Given the description of an element on the screen output the (x, y) to click on. 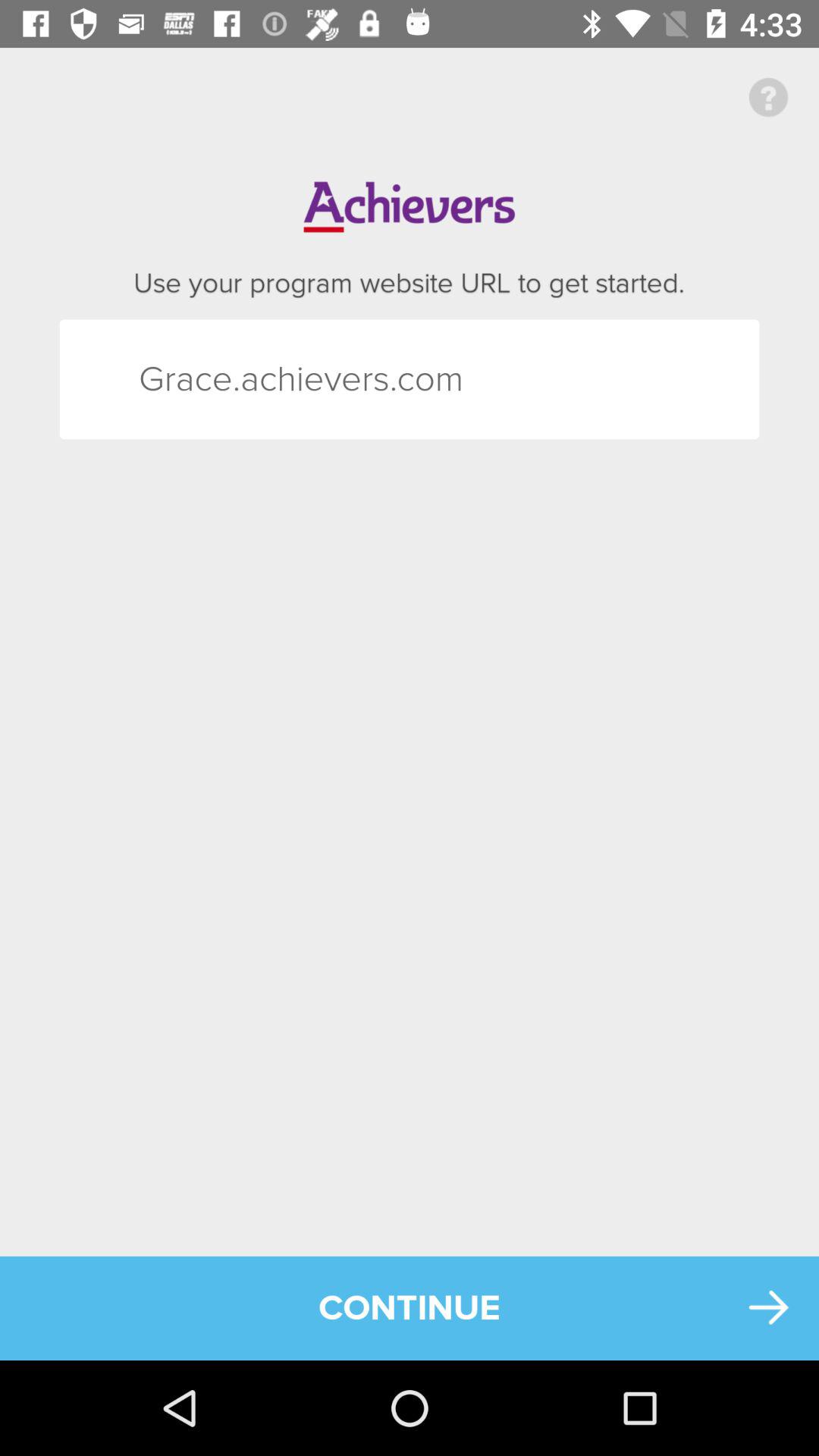
click icon at the top right corner (768, 97)
